Given the description of an element on the screen output the (x, y) to click on. 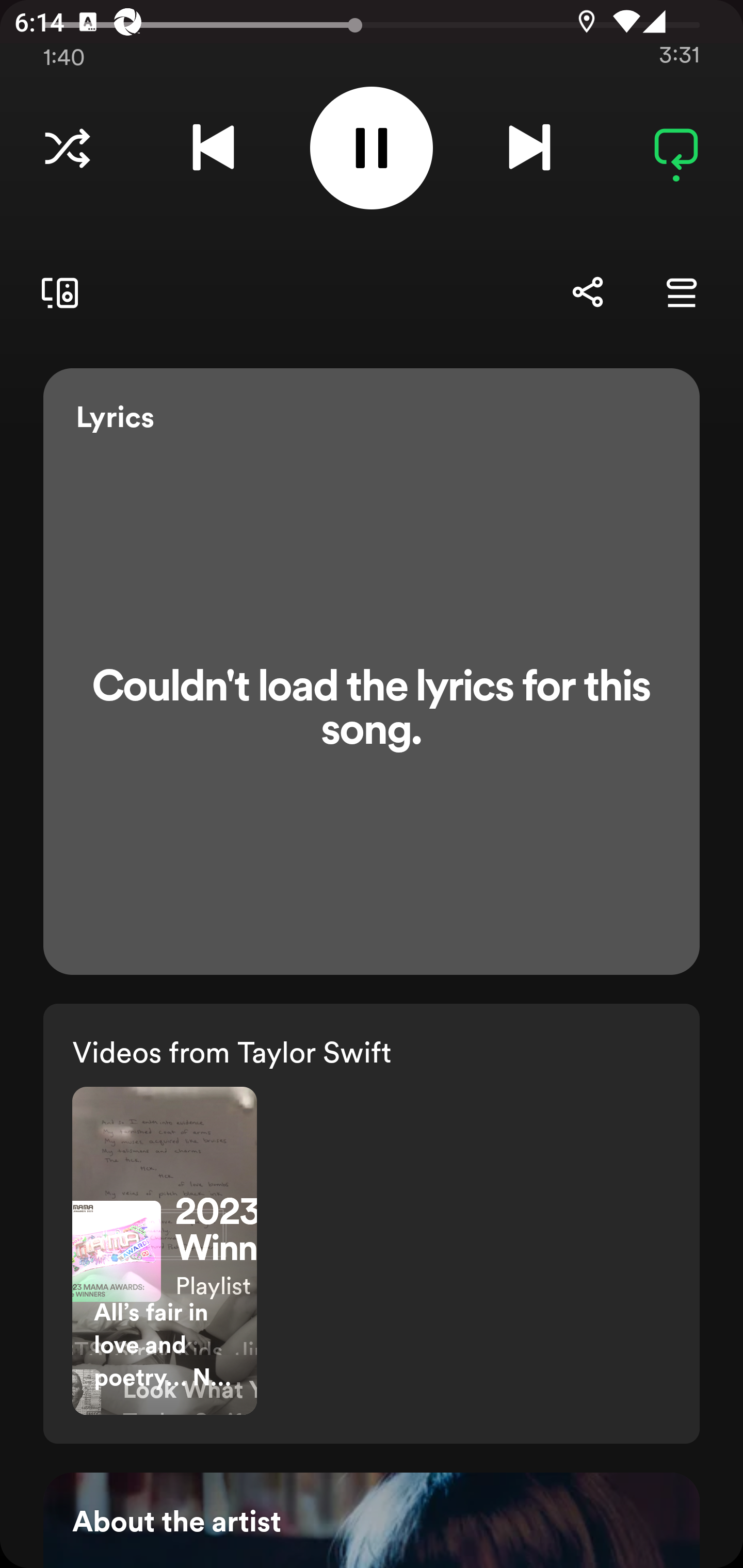
Pause (371, 148)
Previous (212, 147)
Next (529, 147)
Choose a Listening Mode (66, 147)
Repeat (676, 147)
Share (587, 292)
Go to Queue (681, 292)
Connect to a device. Opens the devices menu (55, 291)
